Given the description of an element on the screen output the (x, y) to click on. 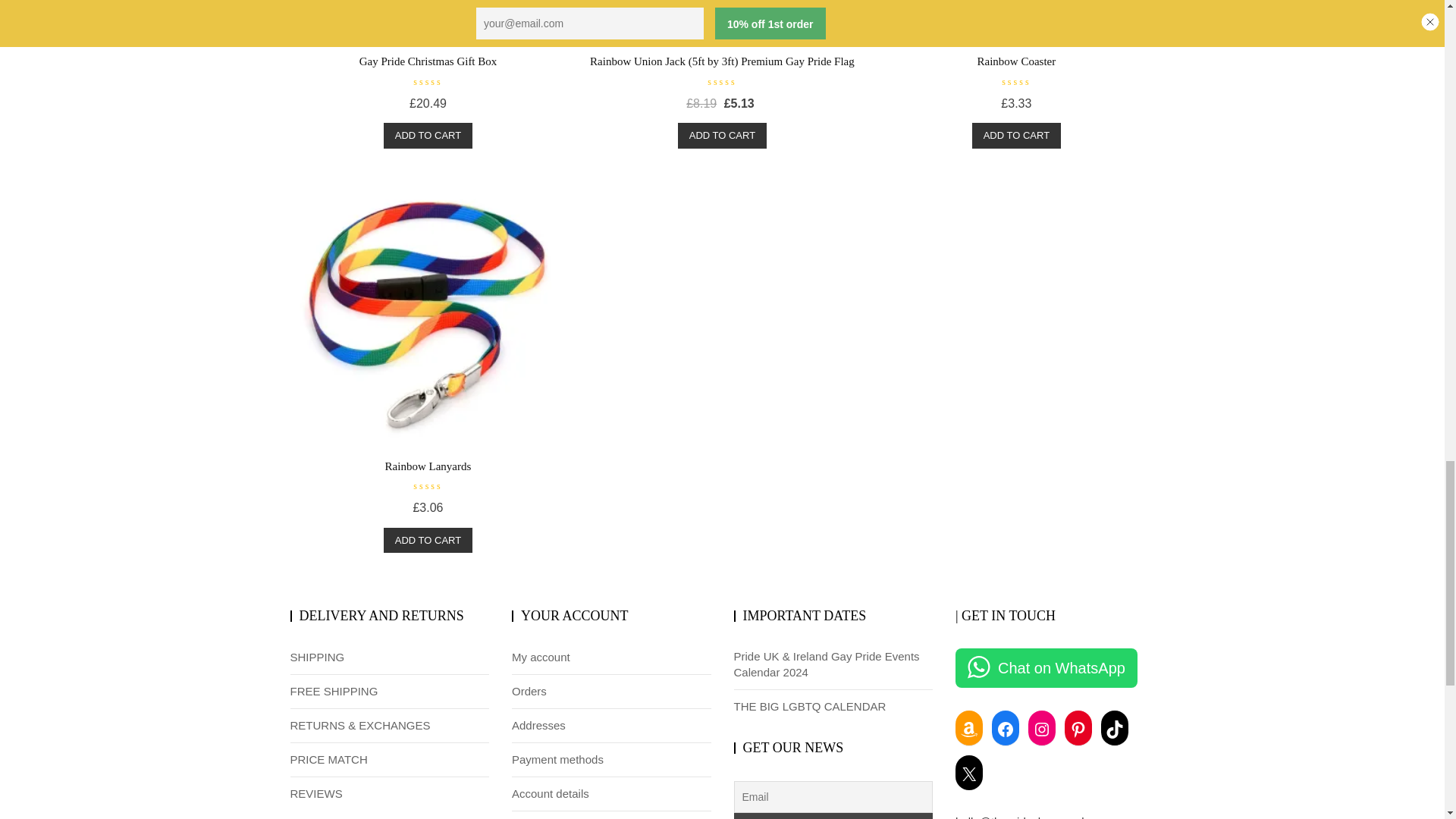
Subscribe (833, 816)
